Given the description of an element on the screen output the (x, y) to click on. 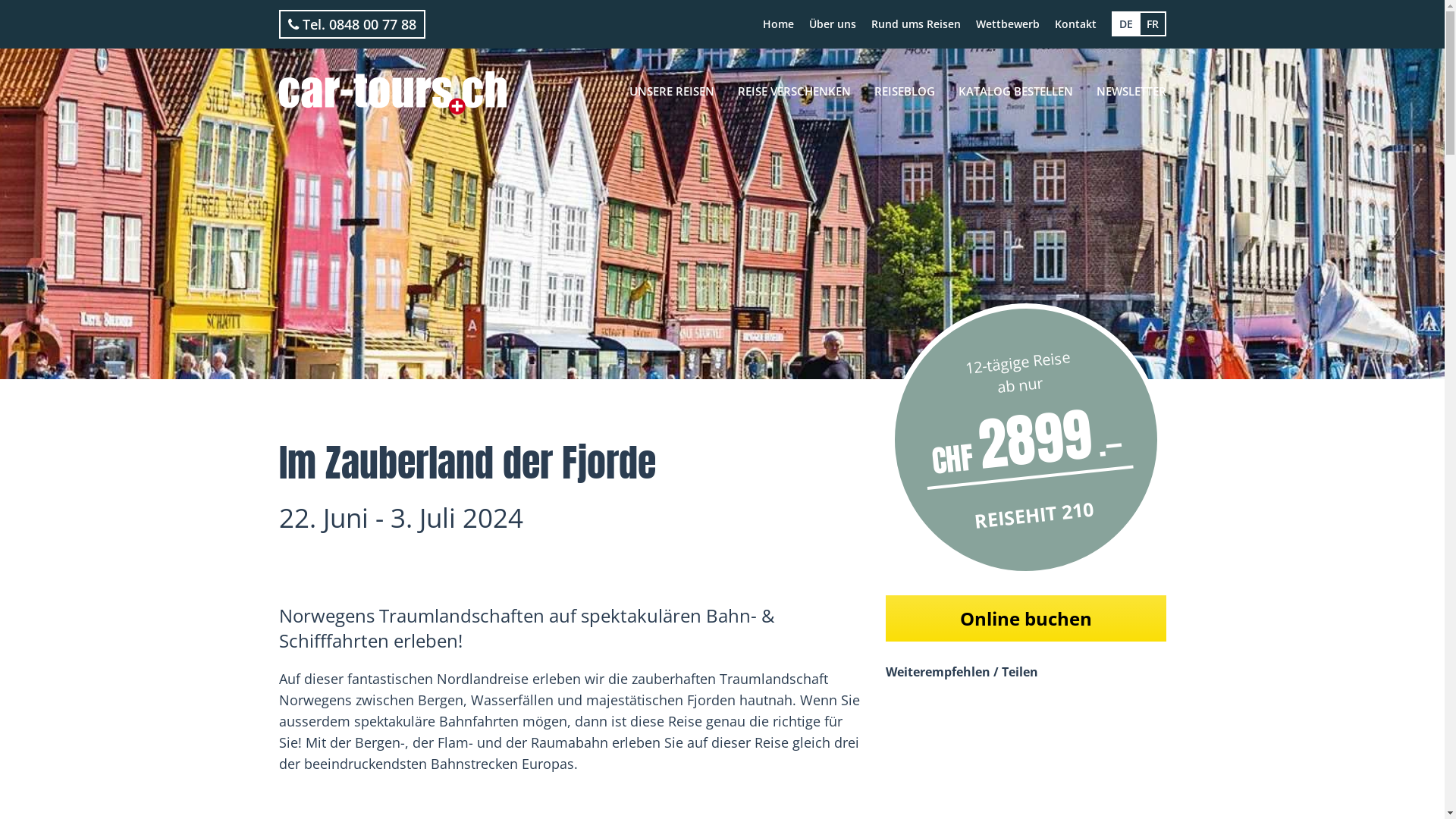
Rund ums Reisen Element type: text (915, 23)
NEWSLETTER Element type: text (1130, 91)
Online buchen Element type: text (1025, 618)
REISE VERSCHENKEN Element type: text (794, 91)
Kontakt Element type: text (1074, 23)
REISEBLOG Element type: text (904, 91)
Home Element type: text (777, 23)
UNSERE REISEN Element type: text (670, 91)
DE Element type: text (1126, 23)
Tel. 0848 00 77 88 Element type: text (352, 23)
KATALOG BESTELLEN Element type: text (1014, 91)
FR Element type: text (1152, 23)
Wettbewerb Element type: text (1006, 23)
